Given the description of an element on the screen output the (x, y) to click on. 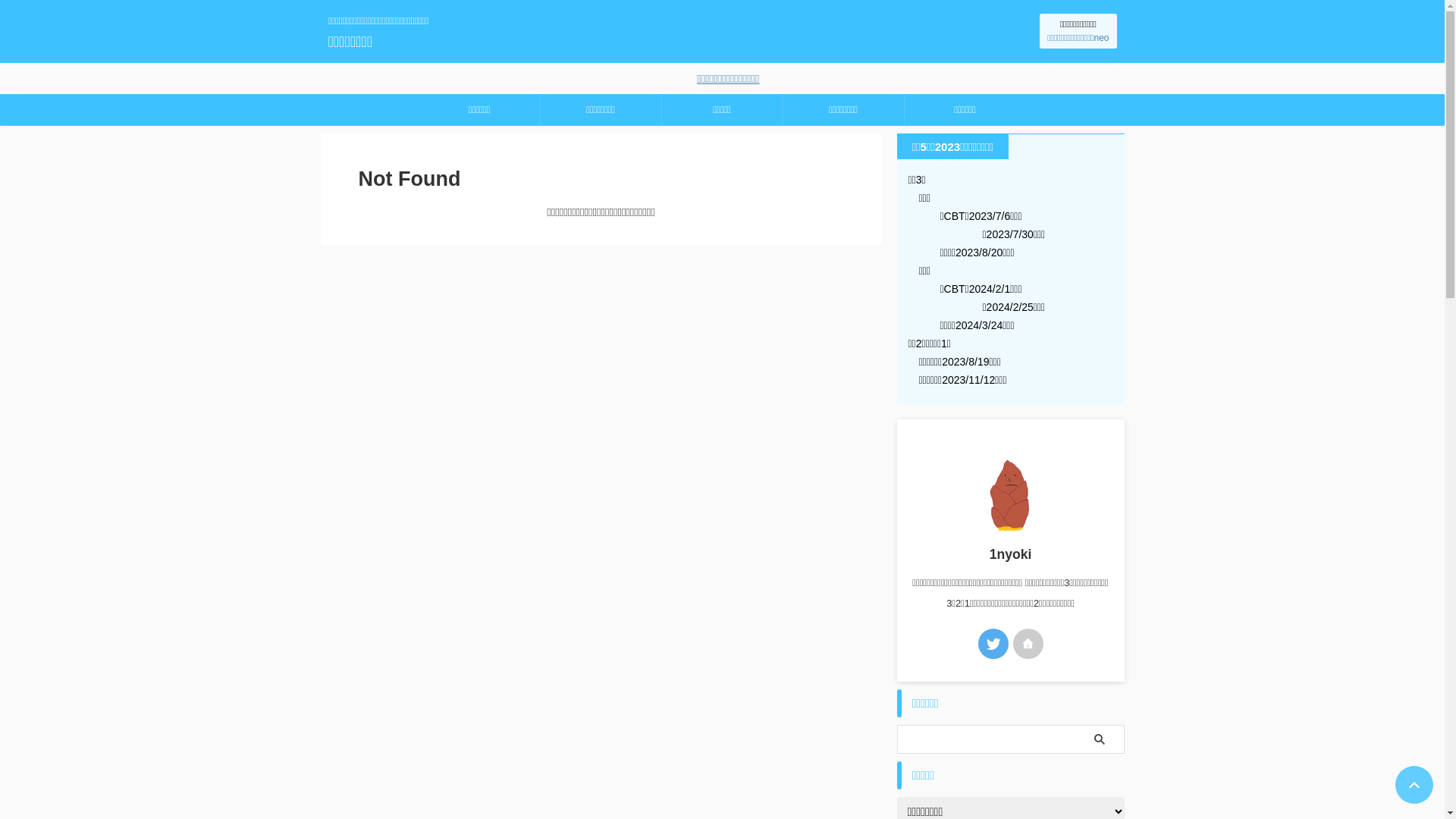
twitter Element type: hover (993, 643)
home Element type: hover (1028, 643)
